Given the description of an element on the screen output the (x, y) to click on. 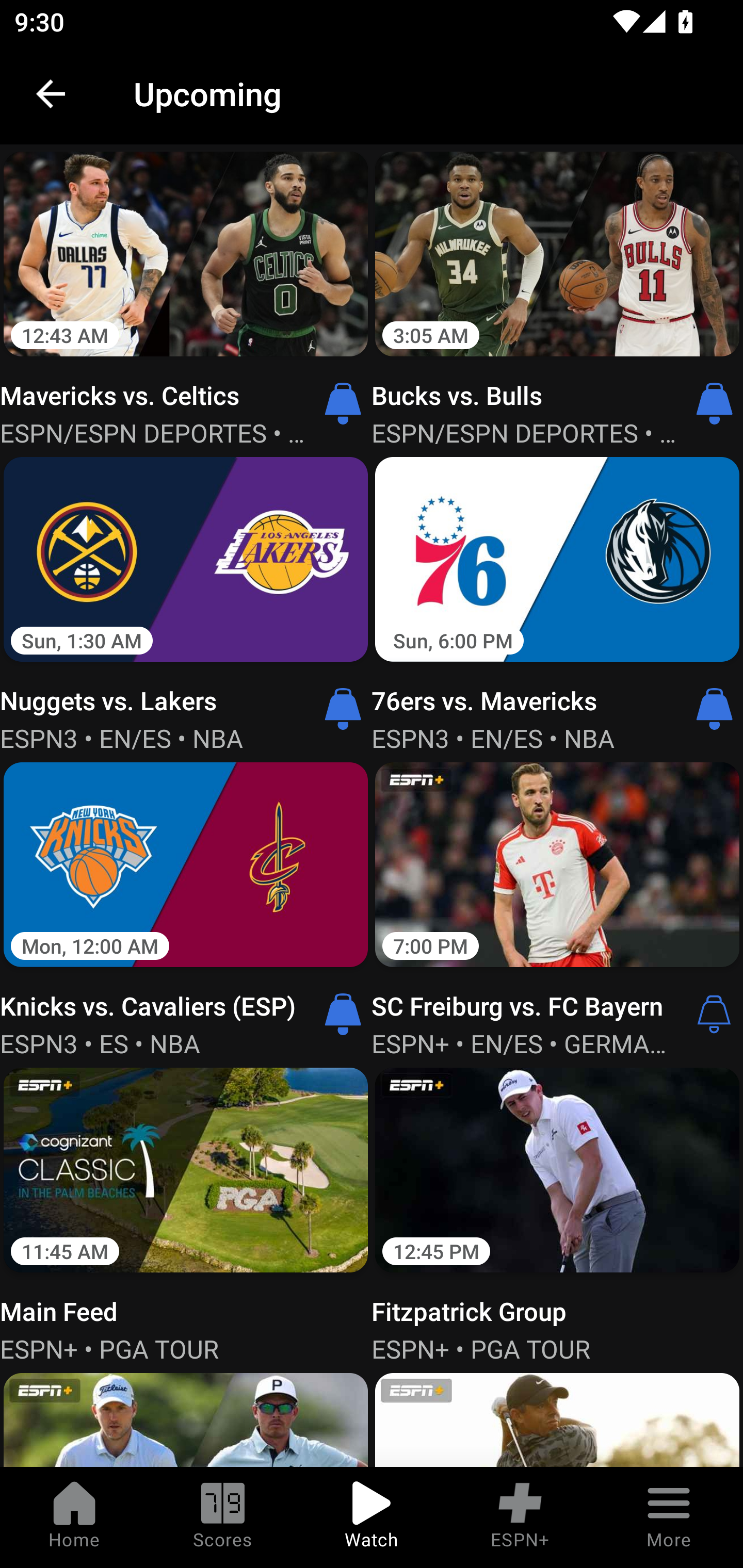
Alerts (714, 1013)
11:45 AM Main Feed ESPN+ • PGA TOUR (185, 1212)
12:45 PM Fitzpatrick Group ESPN+ • PGA TOUR (557, 1212)
Home (74, 1517)
Scores (222, 1517)
ESPN+ (519, 1517)
More (668, 1517)
